Given the description of an element on the screen output the (x, y) to click on. 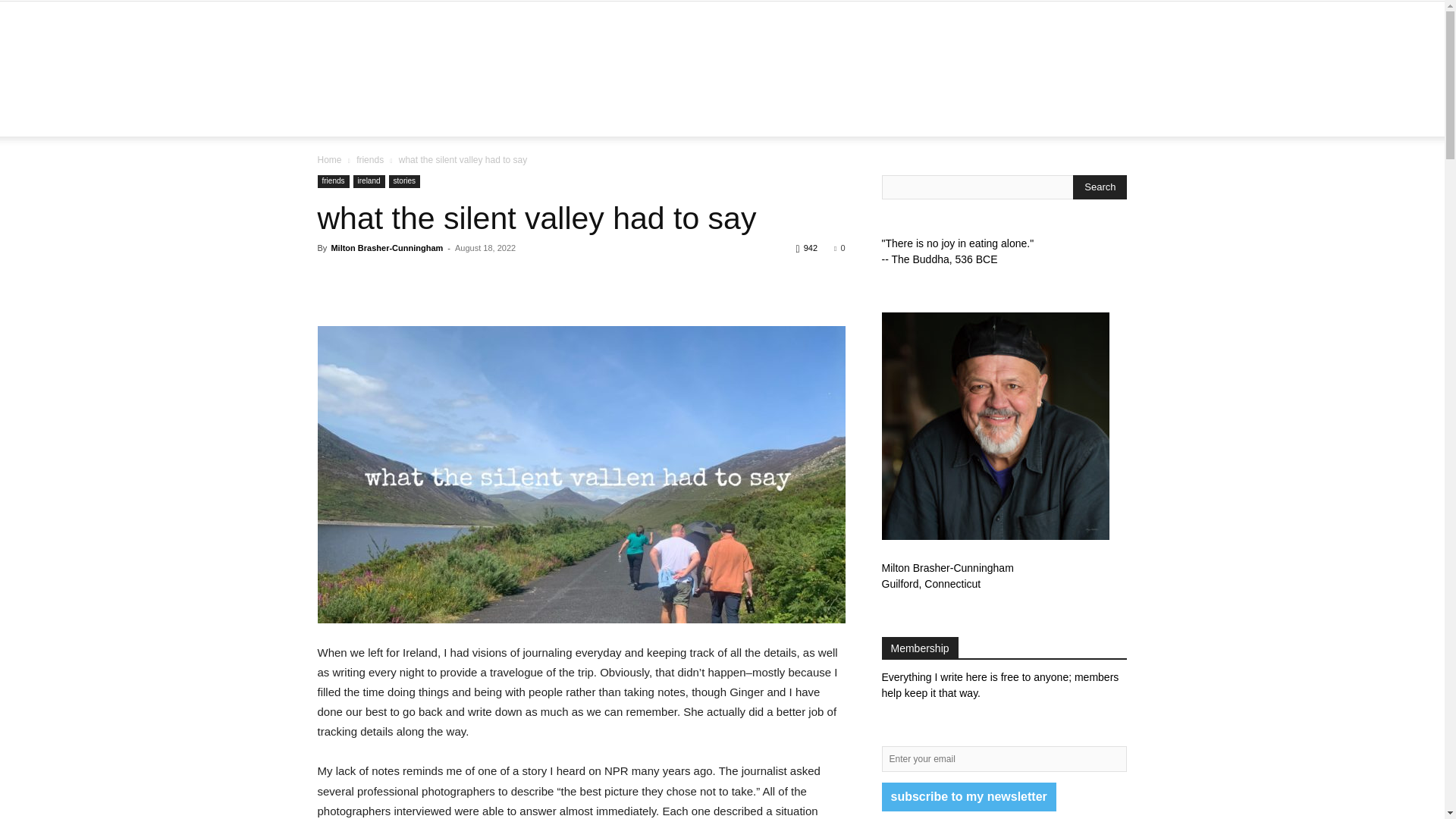
friends (370, 159)
CONTACT (1009, 117)
friends (333, 181)
LENTEN JOURNAL (694, 117)
HOME (424, 117)
SERMONS (790, 117)
ADVENT JOURNAL (574, 117)
0 (839, 247)
Search (1099, 187)
Home (328, 159)
